Given the description of an element on the screen output the (x, y) to click on. 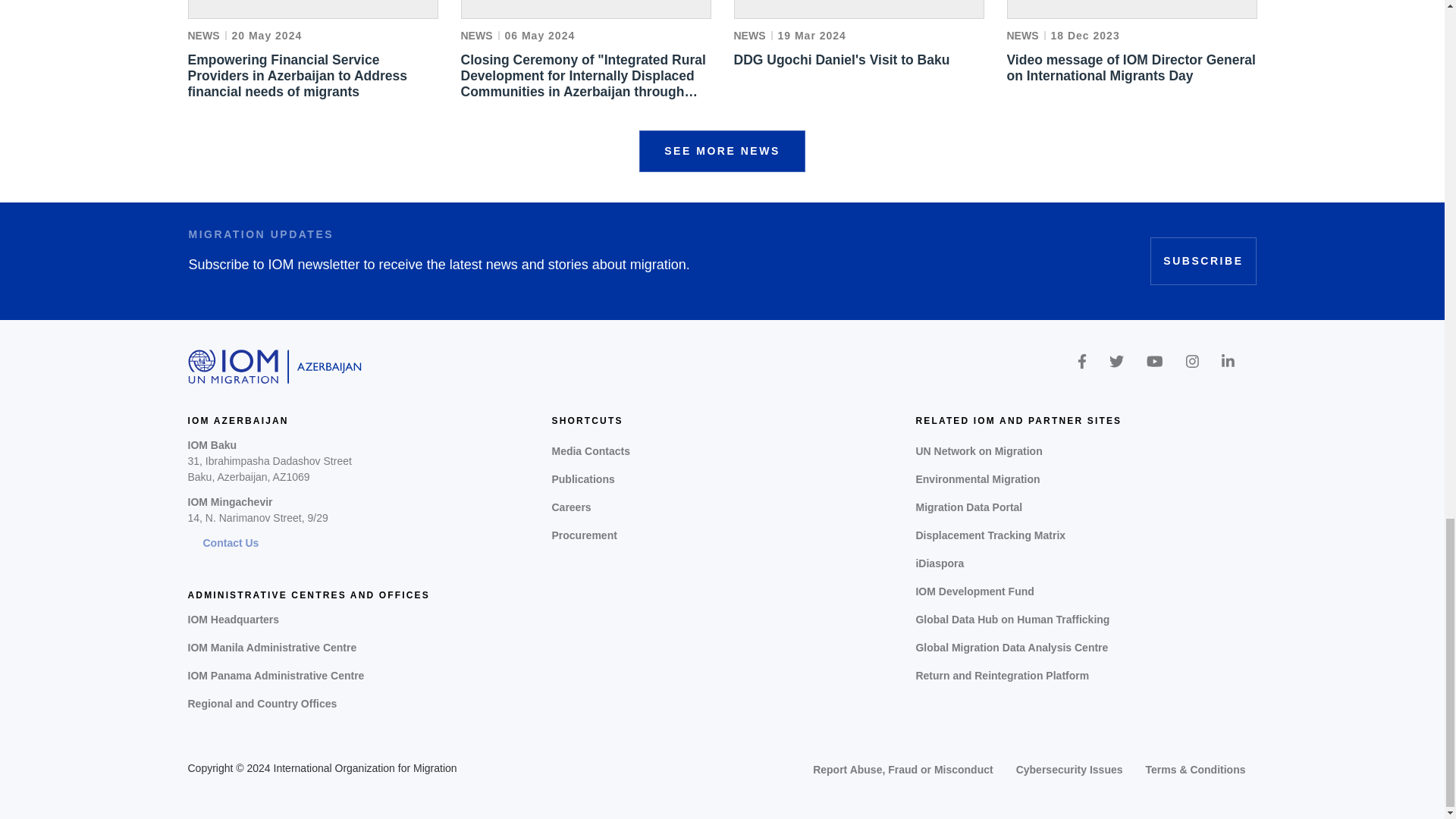
Home (274, 366)
